Given the description of an element on the screen output the (x, y) to click on. 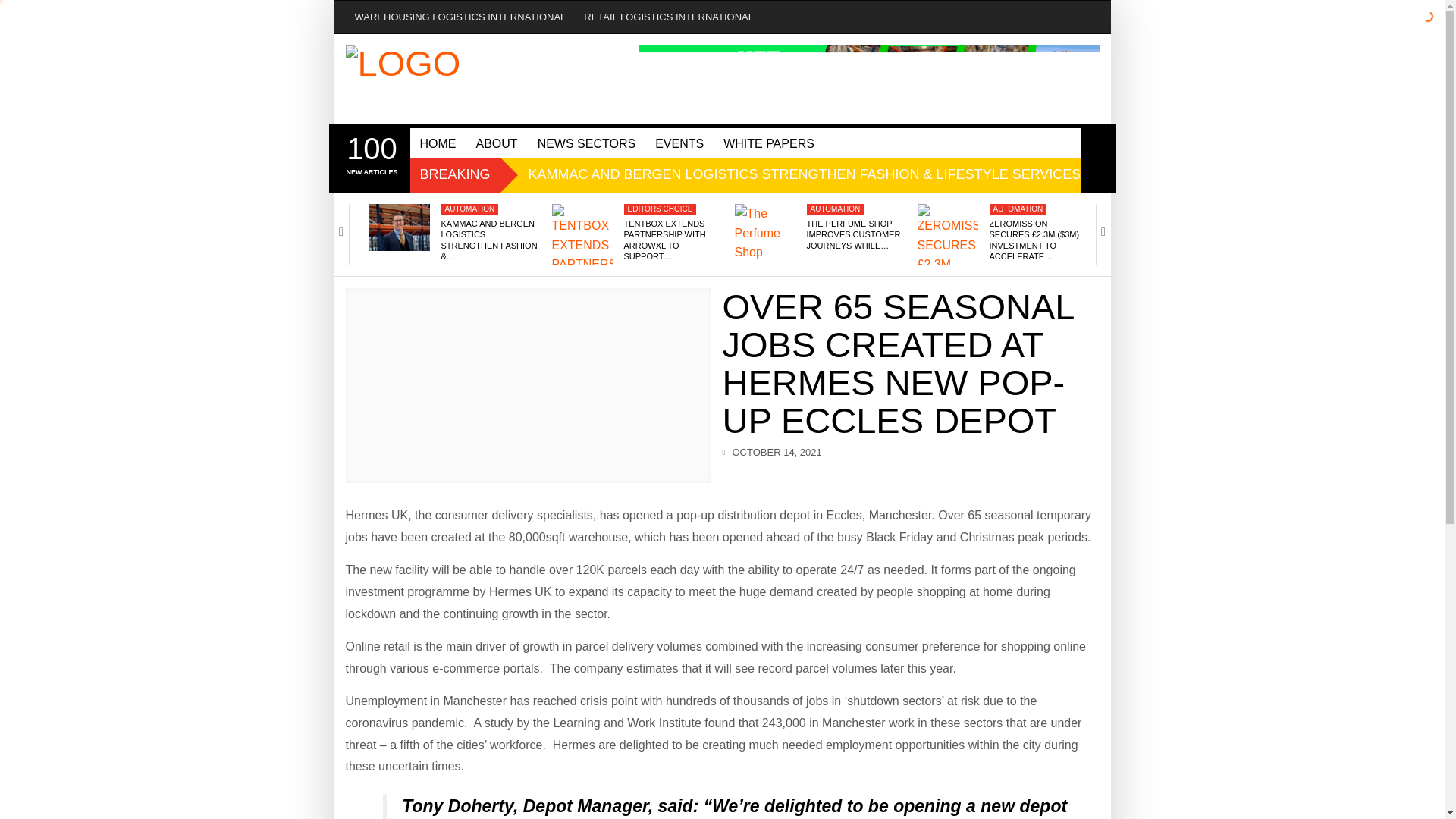
HOME (437, 142)
WAREHOUSING LOGISTICS INTERNATIONAL (460, 16)
NEWS SECTORS (586, 142)
Random (1098, 175)
WHITE PAPERS (768, 142)
EVENTS (679, 142)
BREAKING (455, 174)
Search (1098, 141)
RETAIL LOGISTICS INTERNATIONAL (668, 16)
Sustainable Logistics International (497, 79)
ABOUT (370, 153)
